Given the description of an element on the screen output the (x, y) to click on. 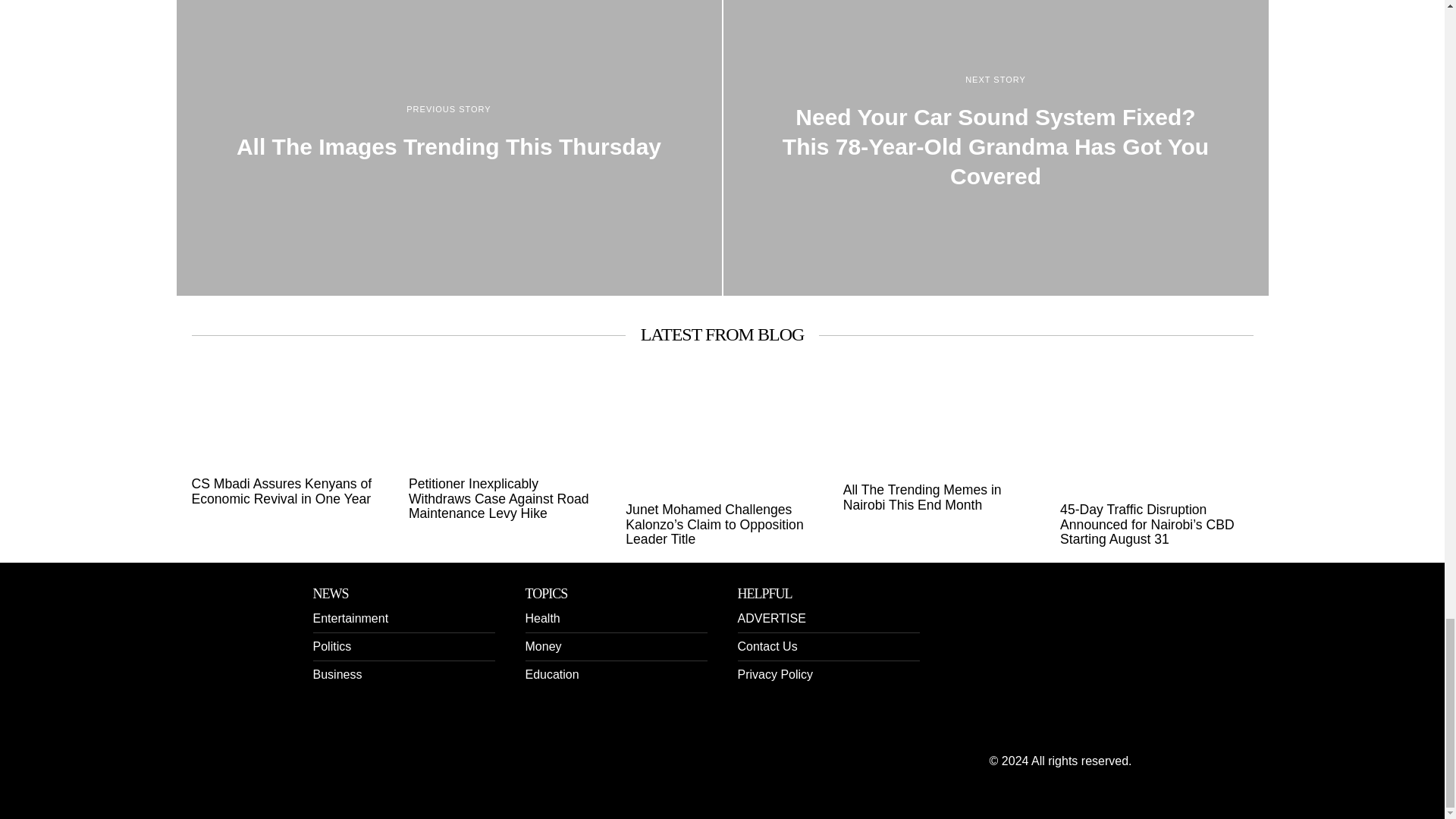
Politics (331, 645)
All The Trending Memes in Nairobi This End Month (939, 497)
Entertainment (350, 617)
Business (337, 674)
CS Mbadi Assures Kenyans of Economic Revival in One Year (287, 491)
